Given the description of an element on the screen output the (x, y) to click on. 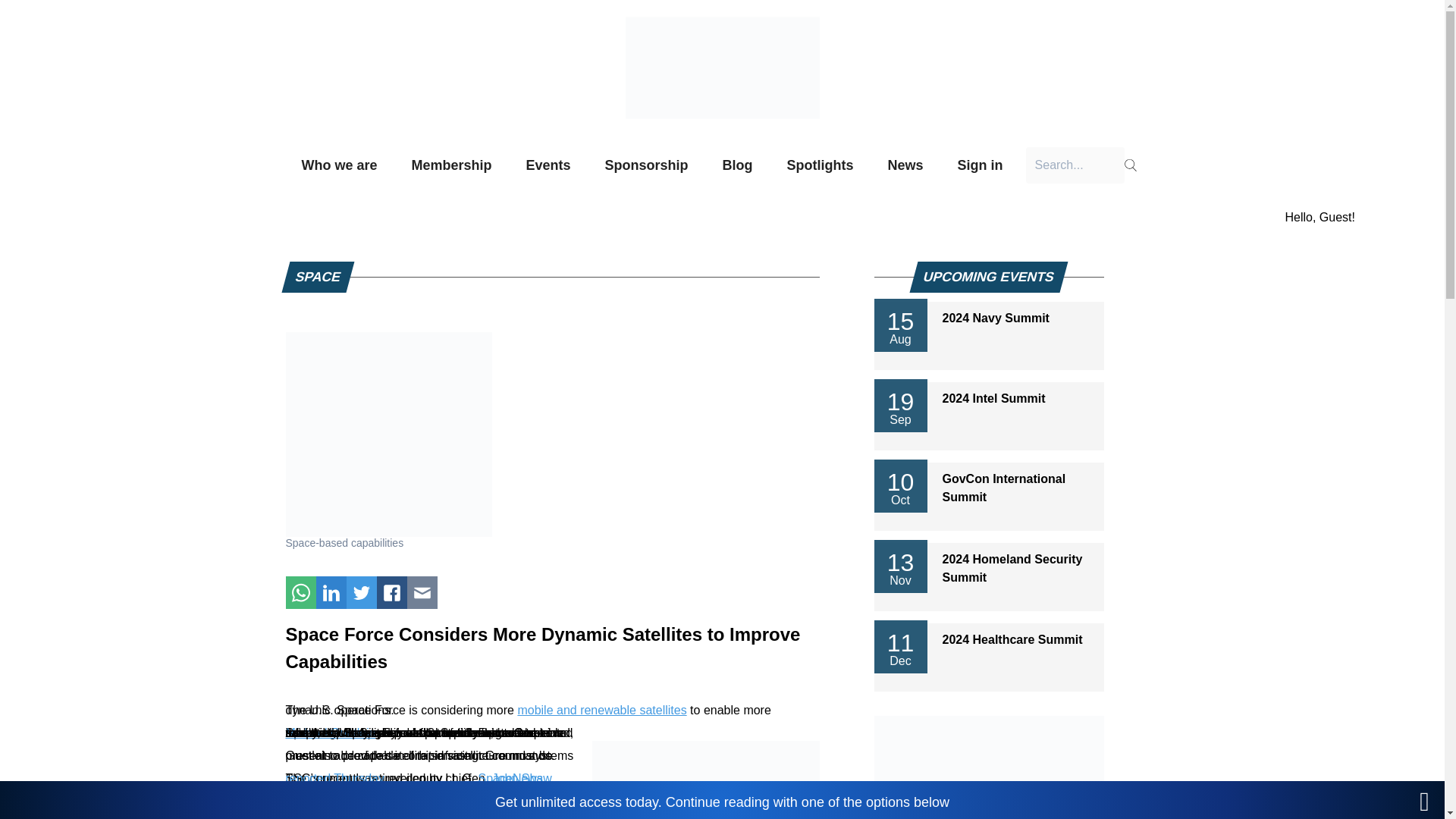
Spotlights (820, 164)
Blog (737, 164)
Who we are (338, 164)
Sponsorship (647, 164)
Membership (450, 164)
Events (546, 164)
Sign in (980, 164)
News (905, 164)
mobile and renewable satellites (600, 709)
Michael Guetlein (330, 732)
